Given the description of an element on the screen output the (x, y) to click on. 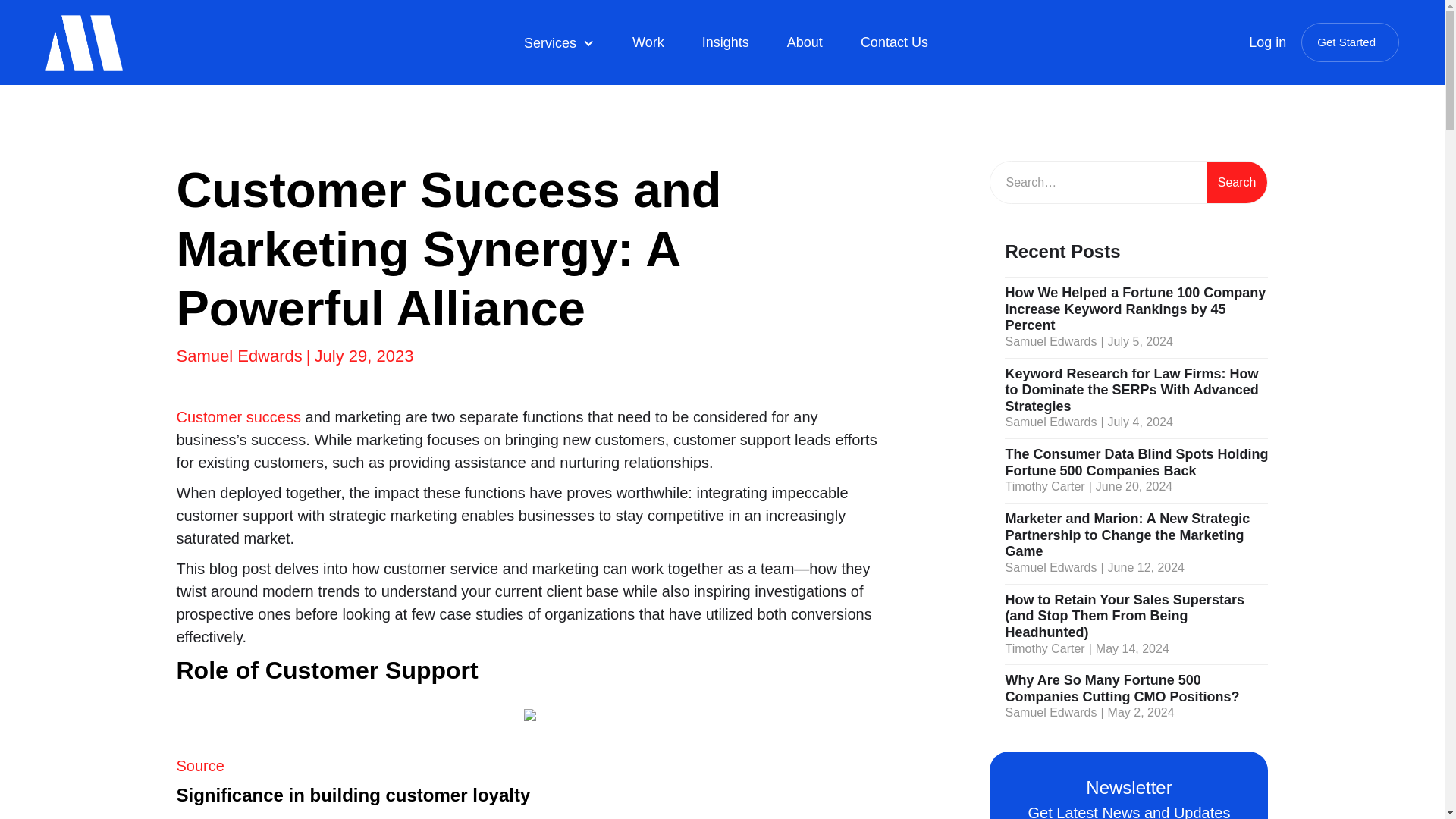
About (804, 41)
Work (648, 41)
Insights (725, 41)
Search (1237, 182)
Log in (1267, 42)
Contact Us (894, 41)
Search (1237, 182)
